Given the description of an element on the screen output the (x, y) to click on. 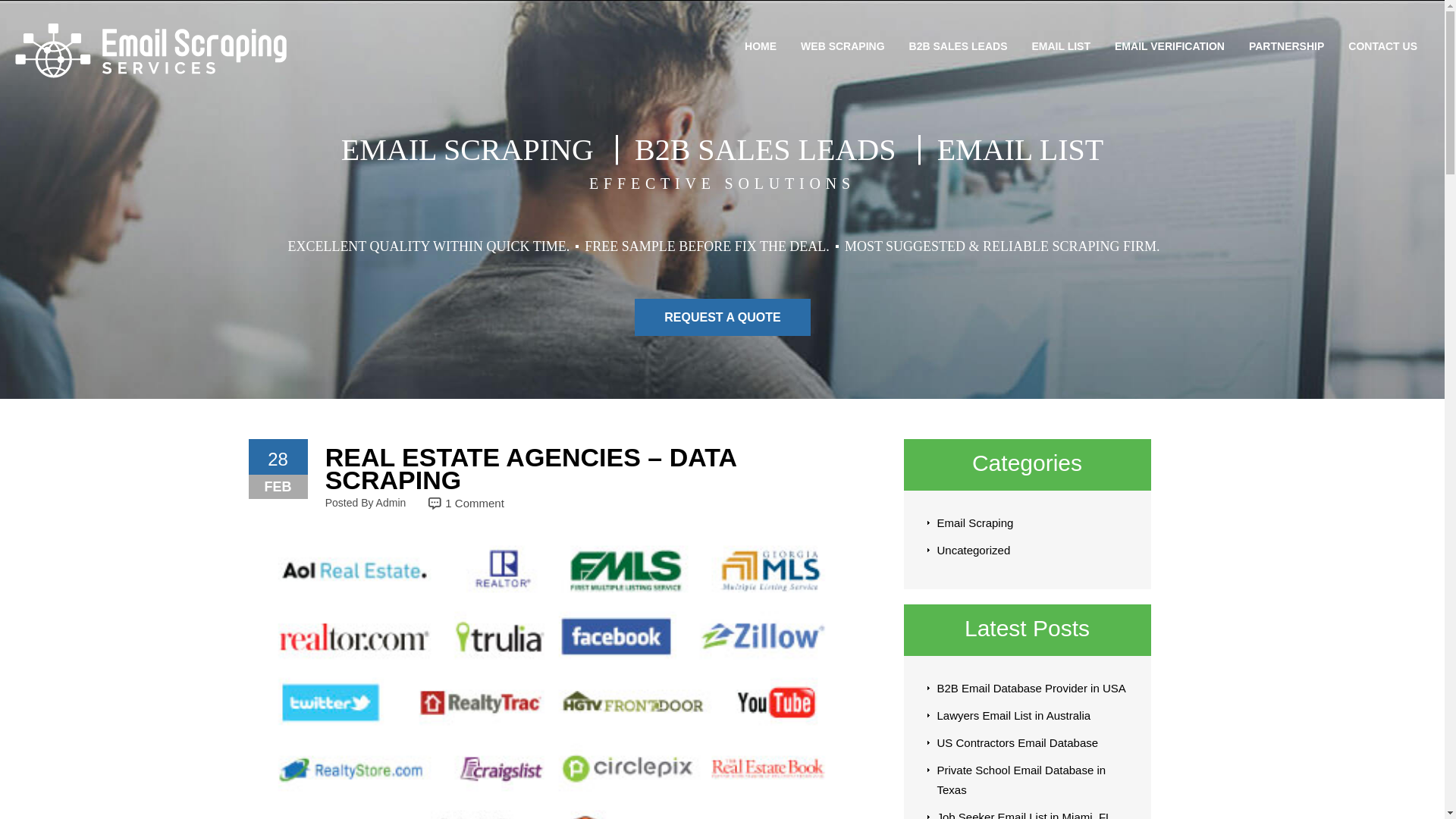
B2B SALES LEADS (957, 46)
US Contractors Email Database (1018, 742)
EMAIL LIST (1060, 46)
HOME (760, 46)
1 Comment (474, 502)
B2B Email Database Provider in USA (1031, 687)
Email Scraping (975, 522)
Uncategorized (973, 549)
EMAIL VERIFICATION (1169, 46)
Lawyers Email List in Australia (1013, 715)
